Given the description of an element on the screen output the (x, y) to click on. 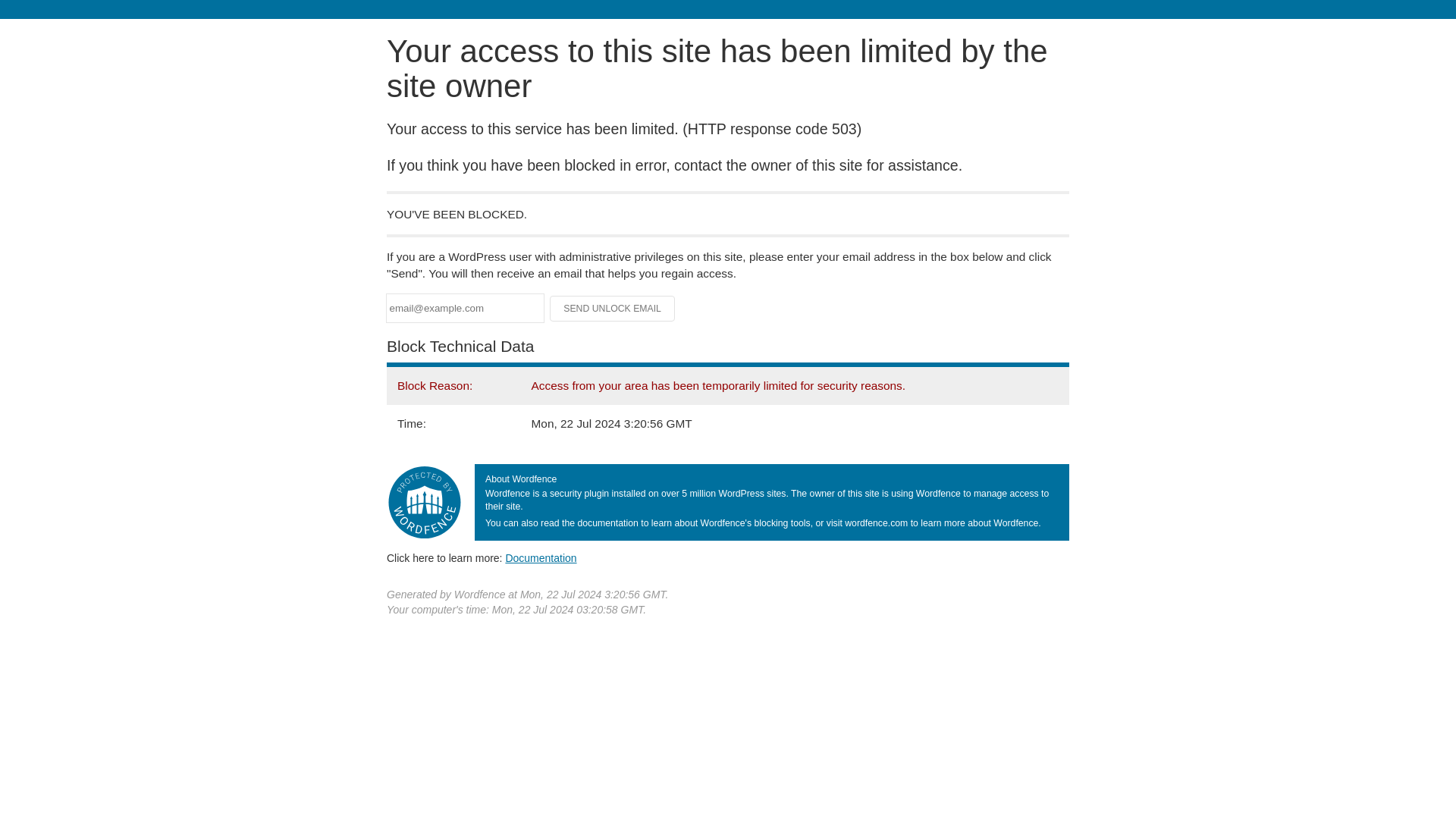
Documentation (540, 558)
Send Unlock Email (612, 308)
Send Unlock Email (612, 308)
